Given the description of an element on the screen output the (x, y) to click on. 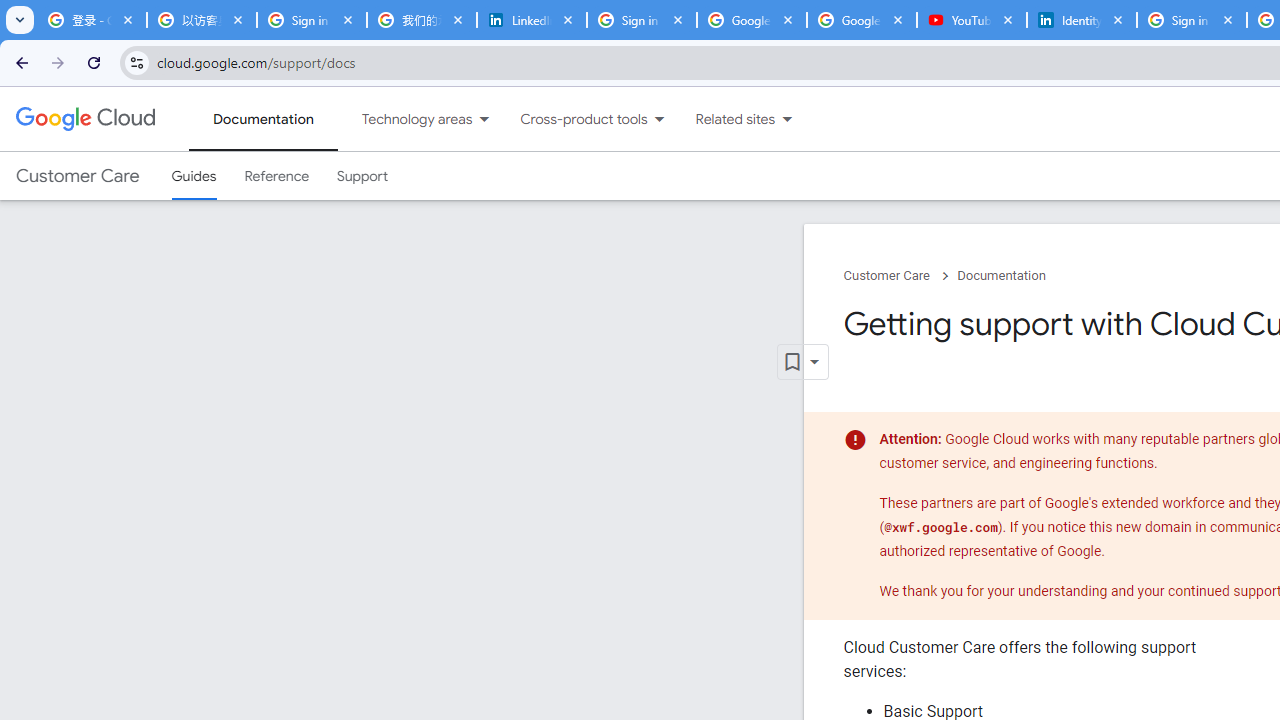
Technology areas (404, 119)
Documentation, selected (263, 119)
Dropdown menu for Technology areas (484, 119)
Guides, selected (193, 175)
Customer Care chevron_right (900, 276)
Documentation (1001, 276)
Customer Care (77, 175)
Reference (276, 175)
